Given the description of an element on the screen output the (x, y) to click on. 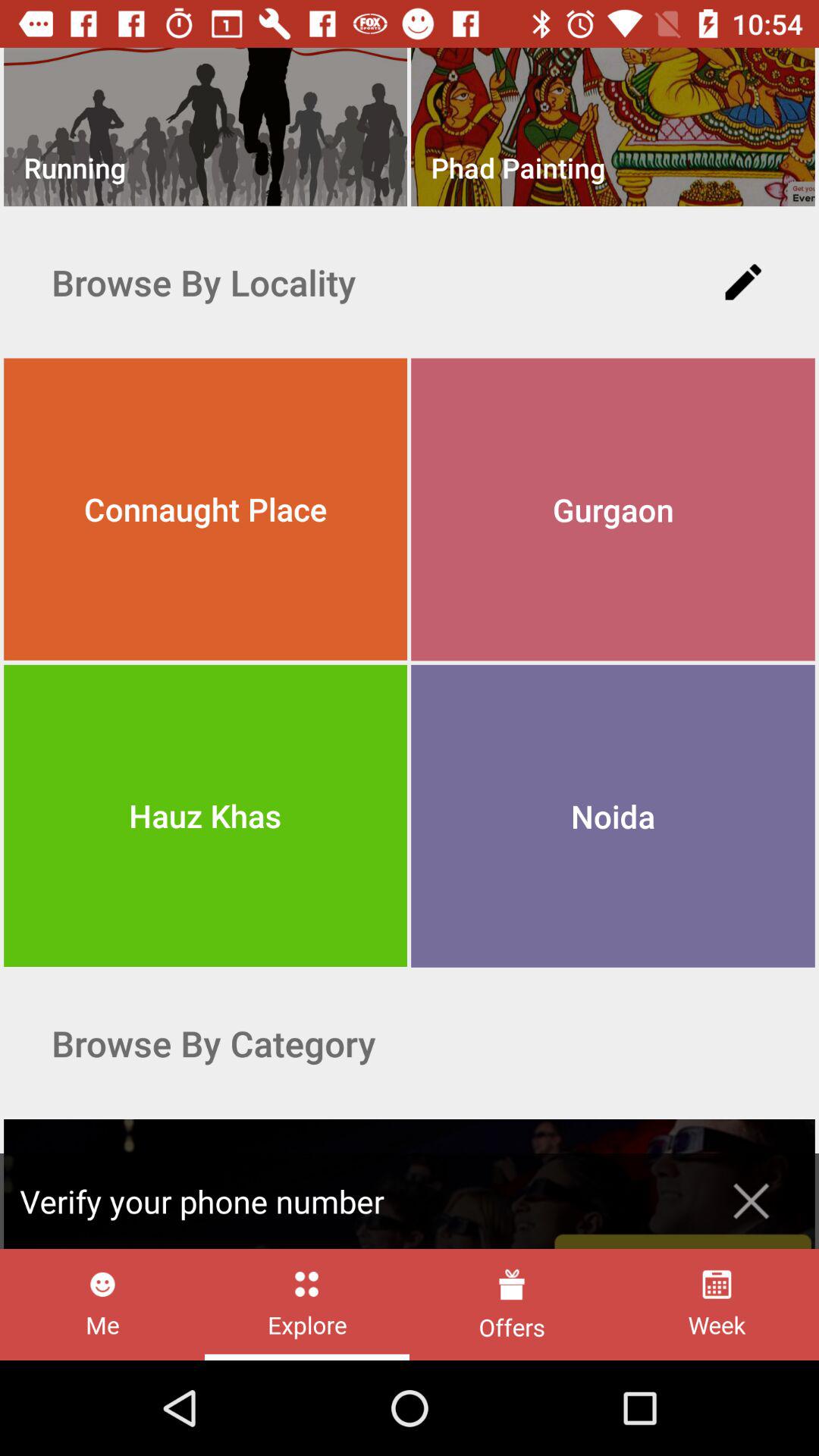
turn off the item next to me (306, 1304)
